Given the description of an element on the screen output the (x, y) to click on. 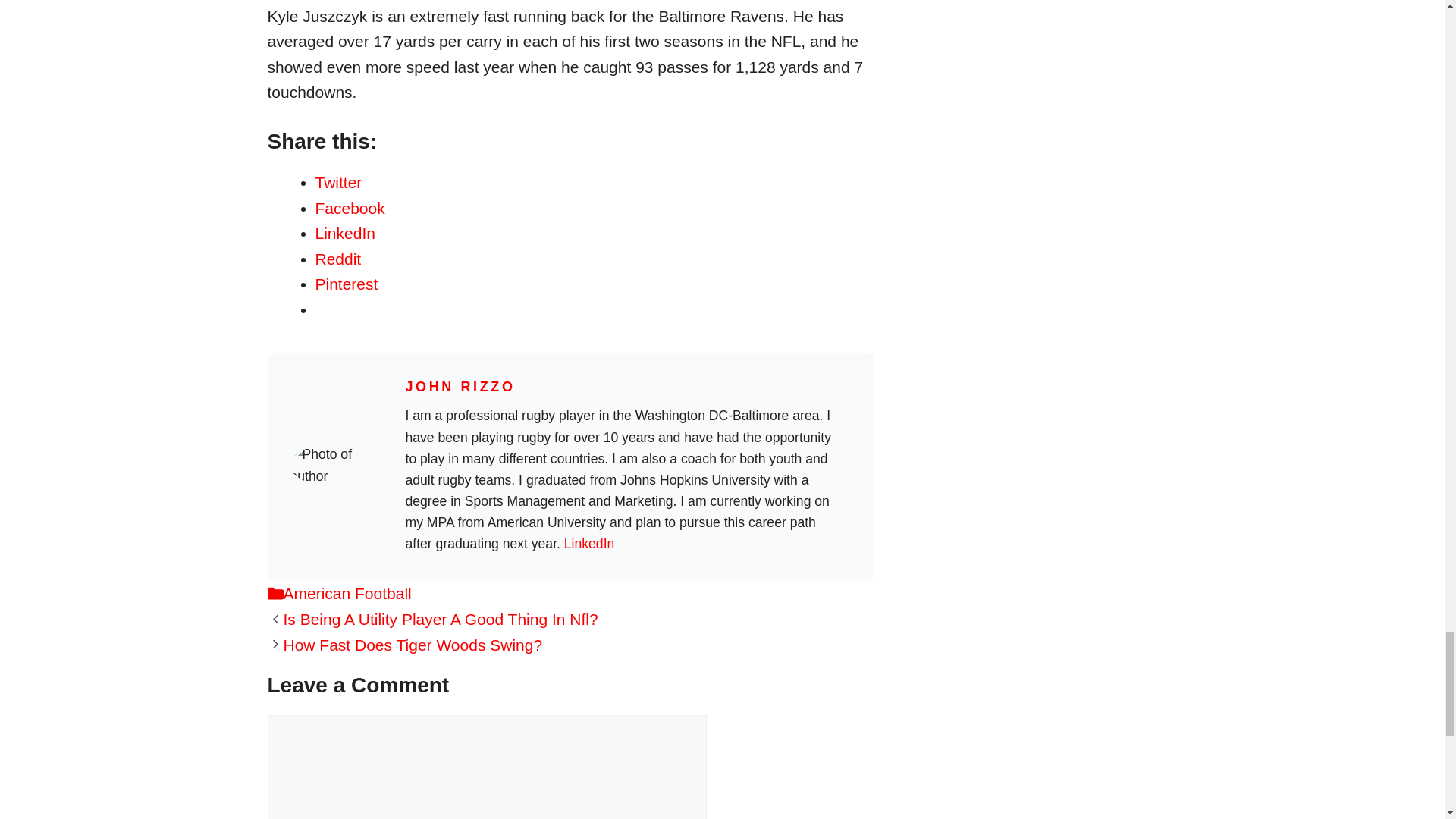
American Football (347, 592)
Reddit (338, 258)
Facebook (350, 208)
Click to share on Reddit (338, 258)
Categories (274, 592)
LinkedIn (345, 232)
LinkedIn (589, 543)
Click to share on Pinterest (346, 283)
JOHN RIZZO (459, 386)
How Fast Does Tiger Woods Swing? (413, 644)
Click to share on Twitter (338, 181)
Is Being A Utility Player A Good Thing In Nfl? (440, 619)
Pinterest (346, 283)
Click to share on Facebook (350, 208)
Twitter (338, 181)
